Given the description of an element on the screen output the (x, y) to click on. 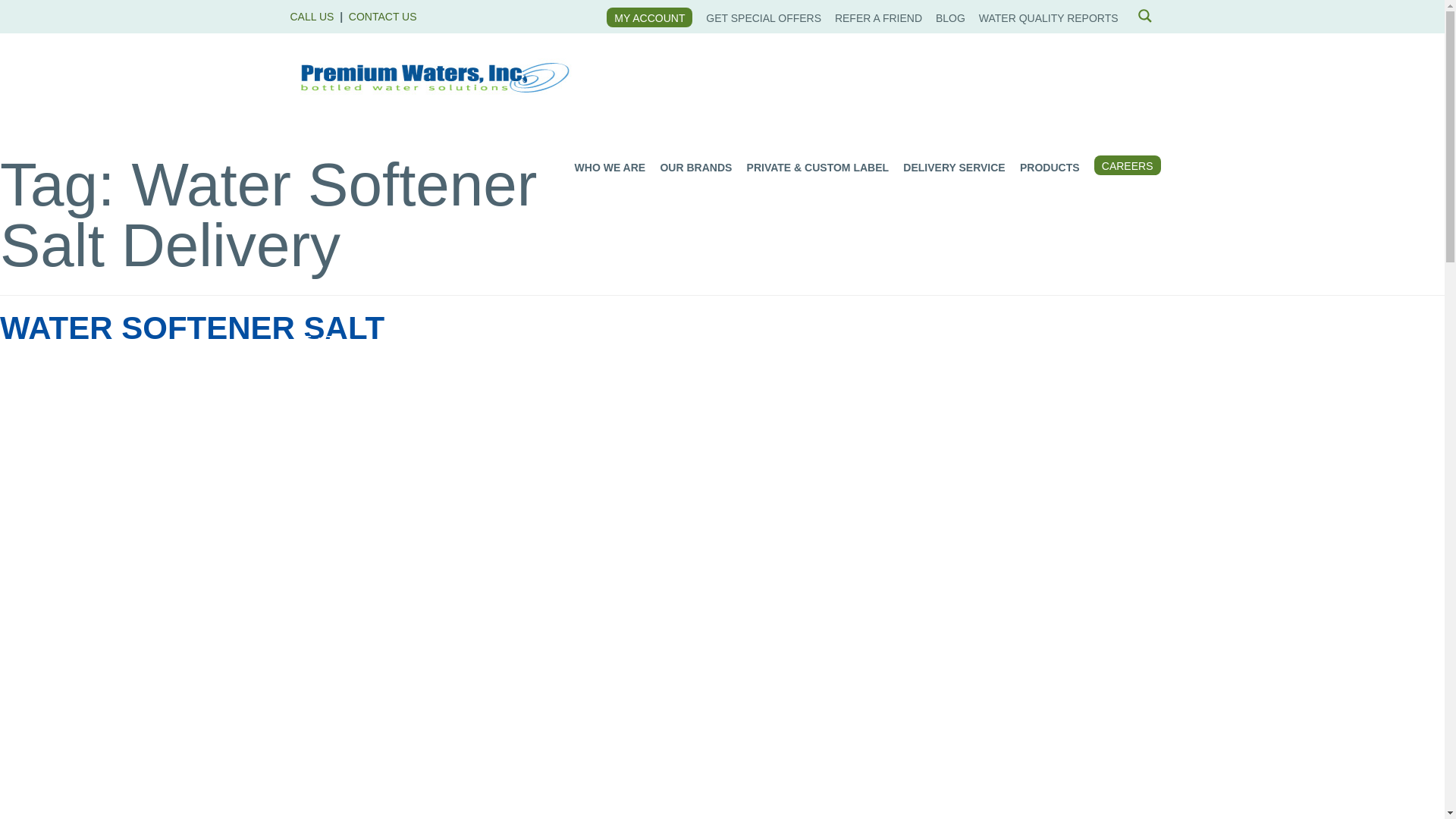
WATER QUALITY REPORTS (1048, 18)
REFER A FRIEND (877, 18)
CONTACT US (382, 16)
GET SPECIAL OFFERS (763, 18)
CALL US (311, 16)
BLOG (950, 18)
MY ACCOUNT (649, 18)
